Given the description of an element on the screen output the (x, y) to click on. 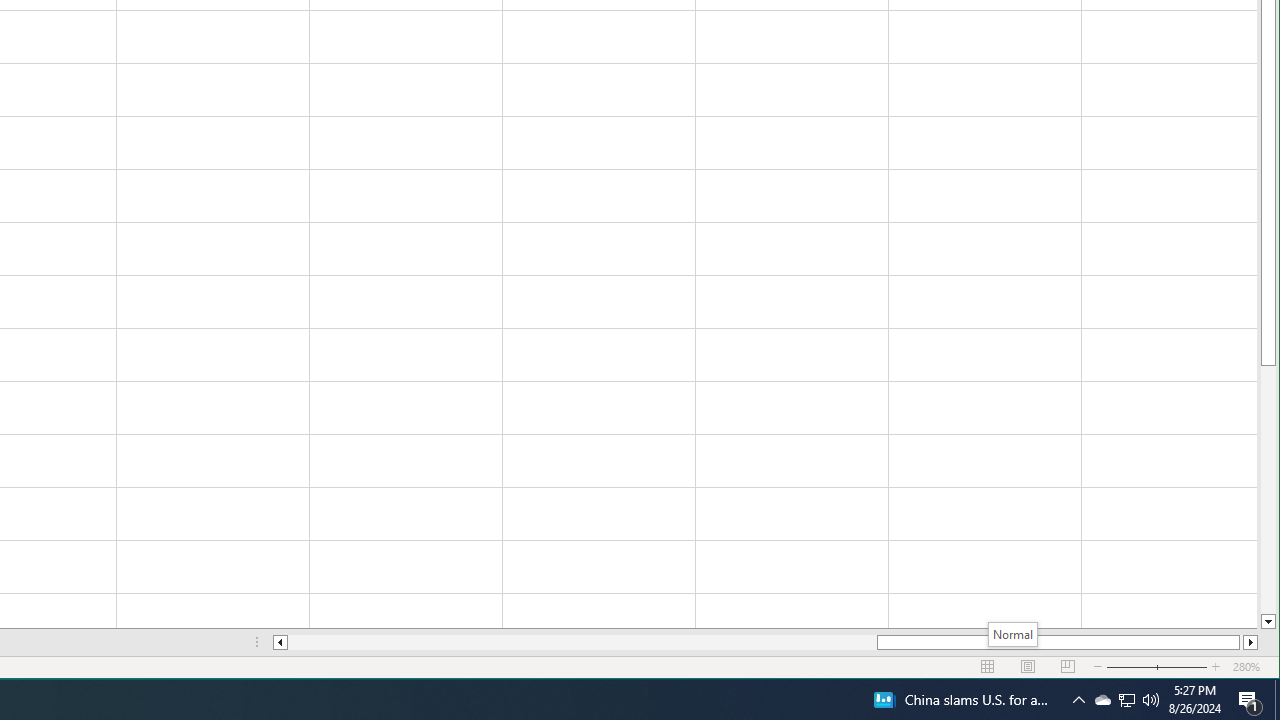
User Promoted Notification Area (1126, 699)
Notification Chevron (1126, 699)
Q2790: 100% (1078, 699)
Show desktop (1151, 699)
